Given the description of an element on the screen output the (x, y) to click on. 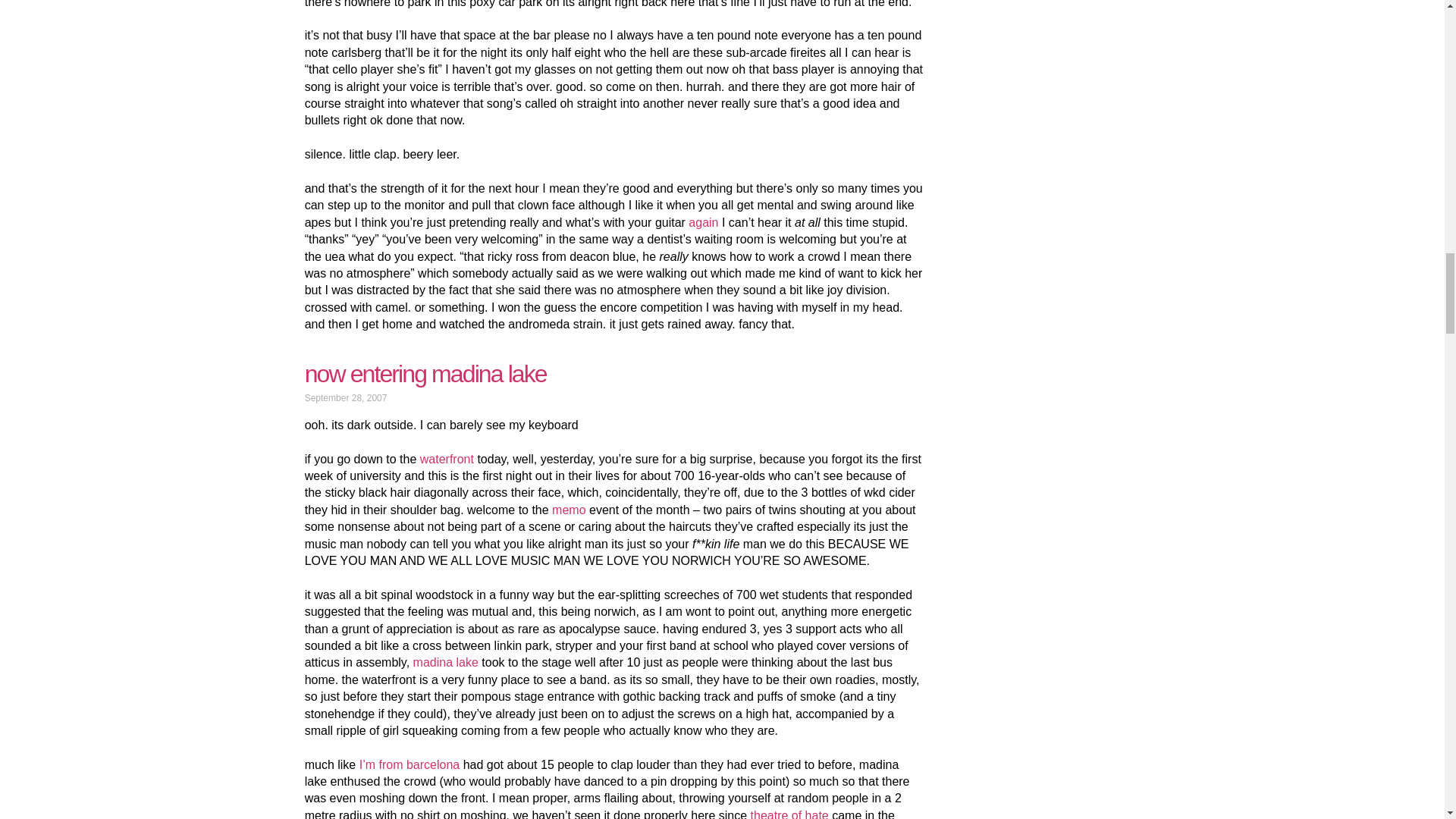
theatre of hate (789, 814)
now entering madina lake (425, 373)
again (702, 222)
waterfront (447, 459)
memo (568, 509)
madina lake (446, 662)
